Given the description of an element on the screen output the (x, y) to click on. 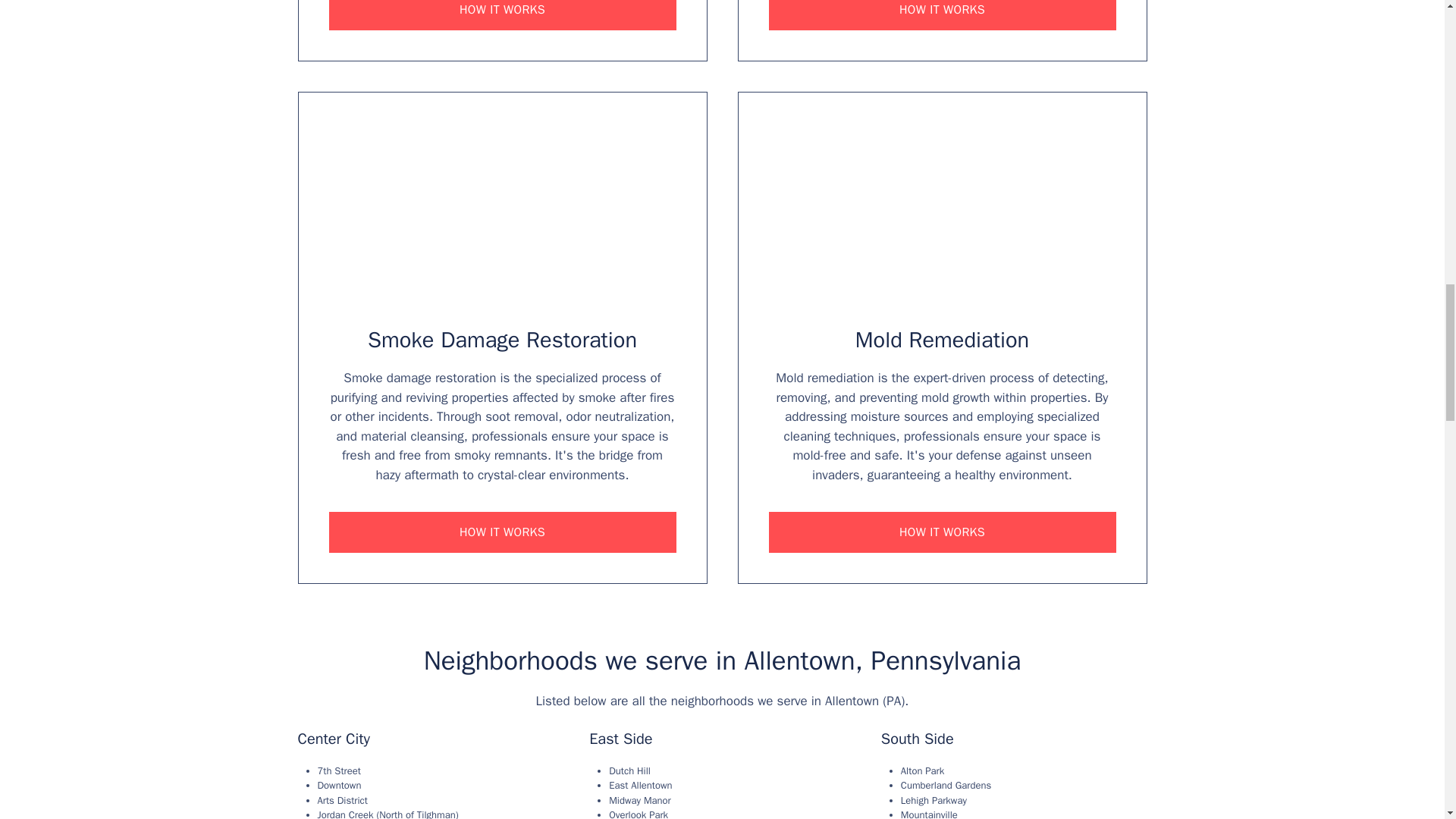
HOW IT WORKS (942, 531)
HOW IT WORKS (503, 531)
HOW IT WORKS (942, 15)
HOW IT WORKS (503, 15)
